Given the description of an element on the screen output the (x, y) to click on. 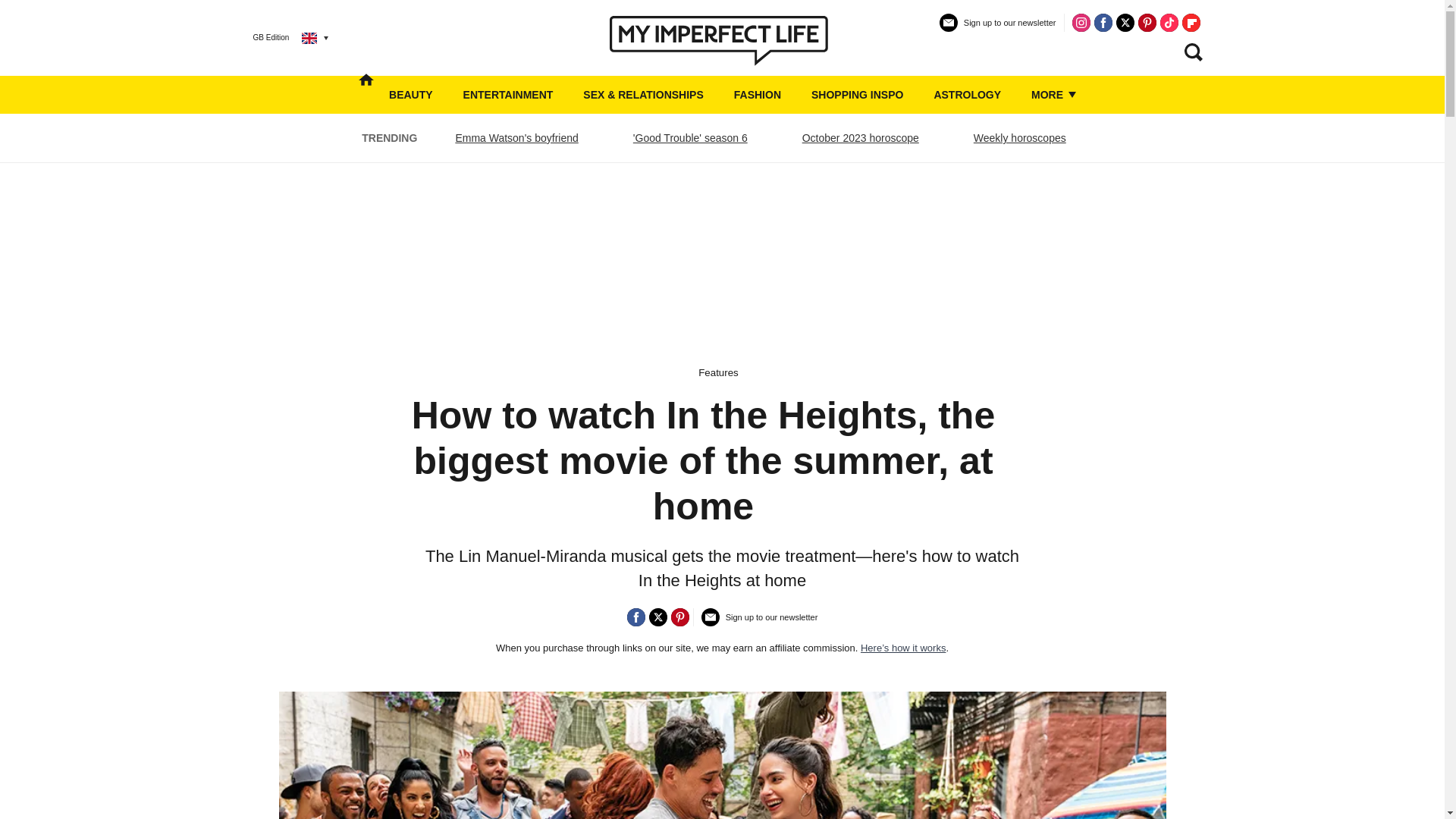
Emma Watson's boyfriend (516, 137)
BEAUTY (410, 94)
Weekly horoscopes (1019, 137)
Features (718, 372)
SHOPPING INSPO (856, 94)
October 2023 horoscope (860, 137)
FASHION (756, 94)
Sign up to our newsletter (998, 28)
'Good Trouble' season 6 (689, 137)
ENTERTAINMENT (508, 94)
ASTROLOGY (967, 94)
Sign up to our newsletter (759, 623)
GB Edition (279, 37)
